Given the description of an element on the screen output the (x, y) to click on. 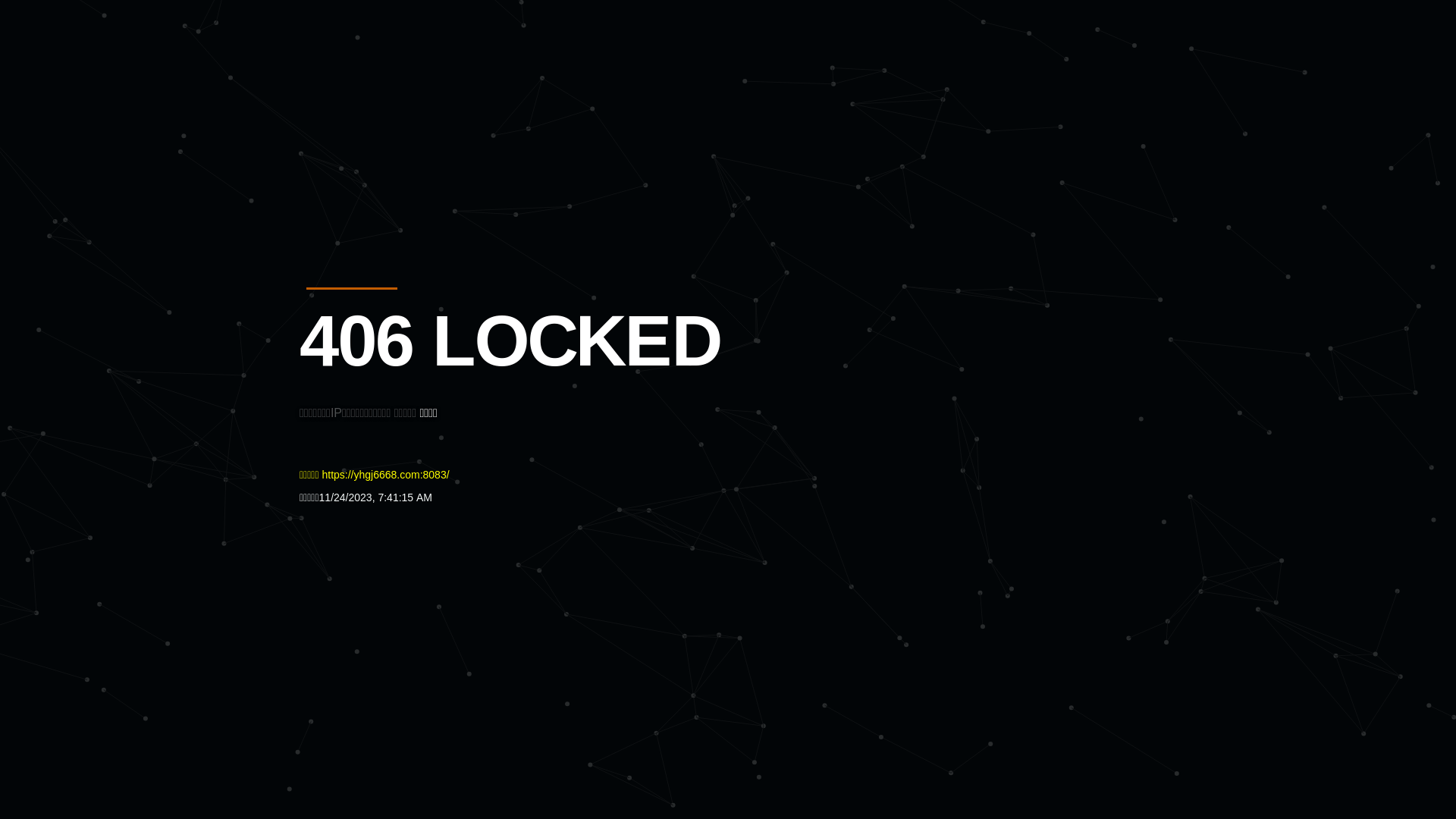
Quatro Element type: text (410, 86)
